Given the description of an element on the screen output the (x, y) to click on. 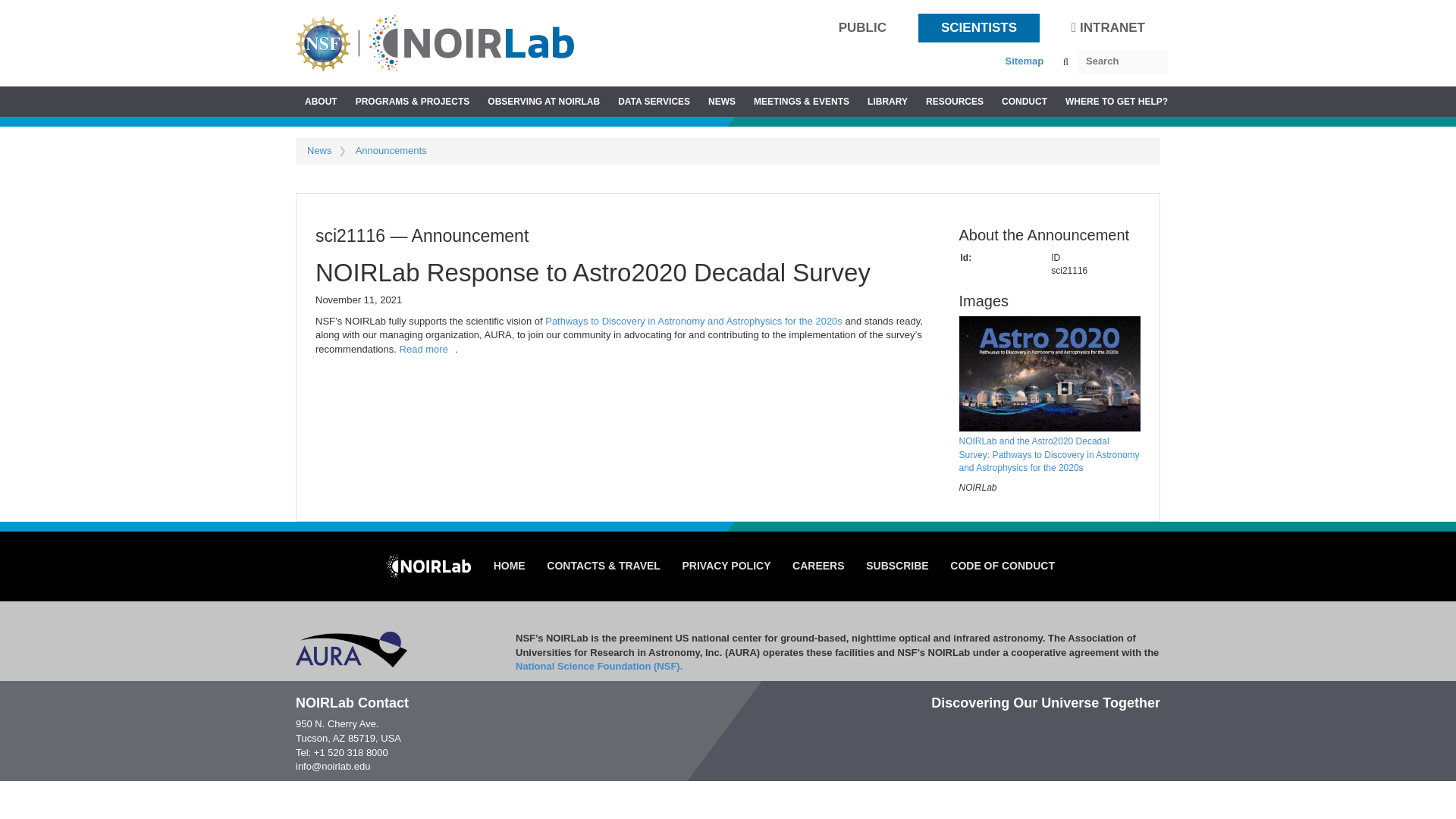
INTRANET (1107, 27)
PUBLIC (862, 27)
Enter the terms you wish to search for. (1122, 61)
SCIENTISTS (978, 28)
PUBLIC (861, 28)
ABOUT (320, 101)
Sitemap (1024, 60)
INTRANET (1107, 28)
SCIENTISTS (978, 27)
